Given the description of an element on the screen output the (x, y) to click on. 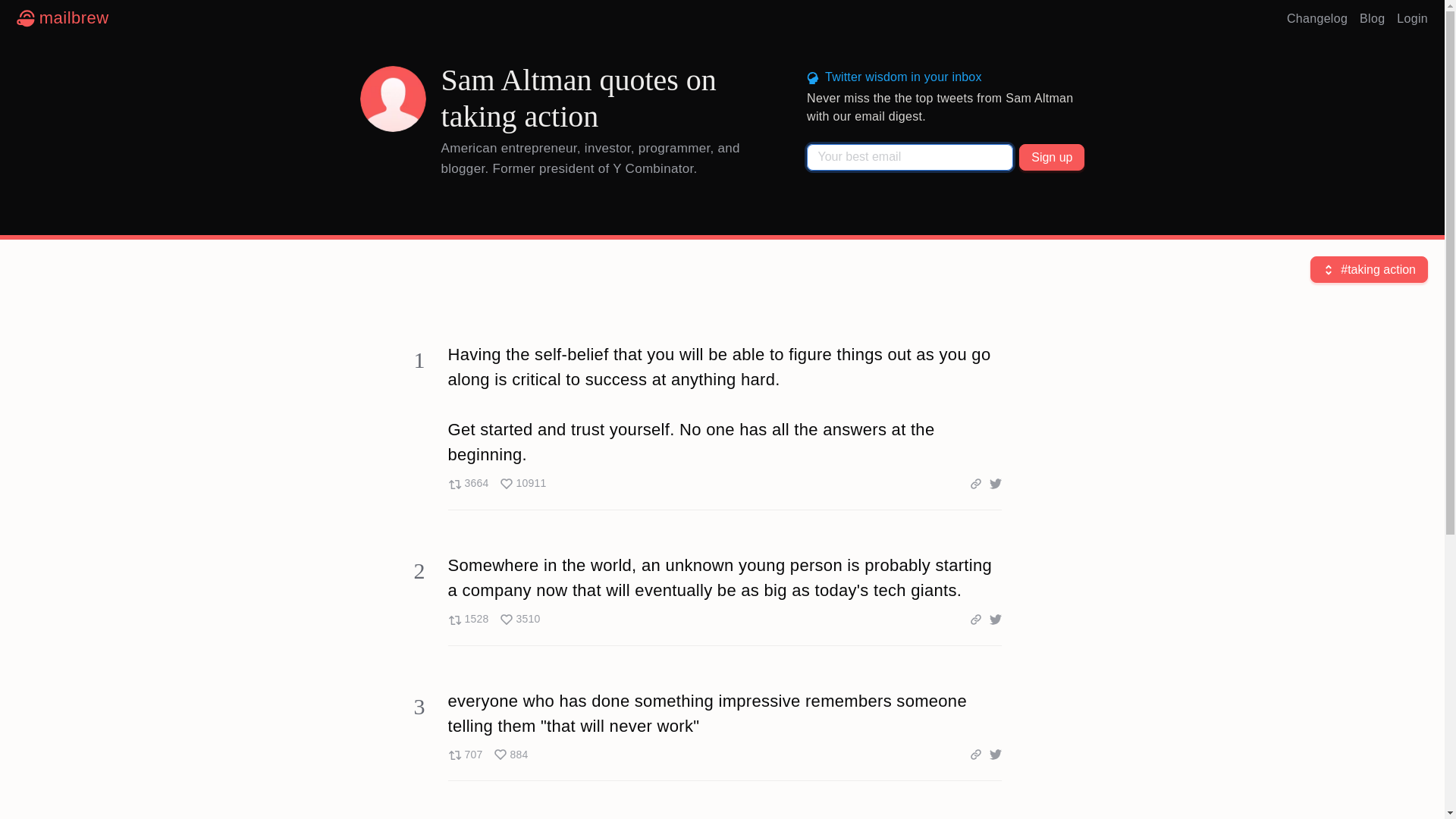
Blog (1371, 18)
Changelog (1317, 18)
mailbrew (62, 18)
Login (1412, 18)
Sign up (1051, 157)
